Given the description of an element on the screen output the (x, y) to click on. 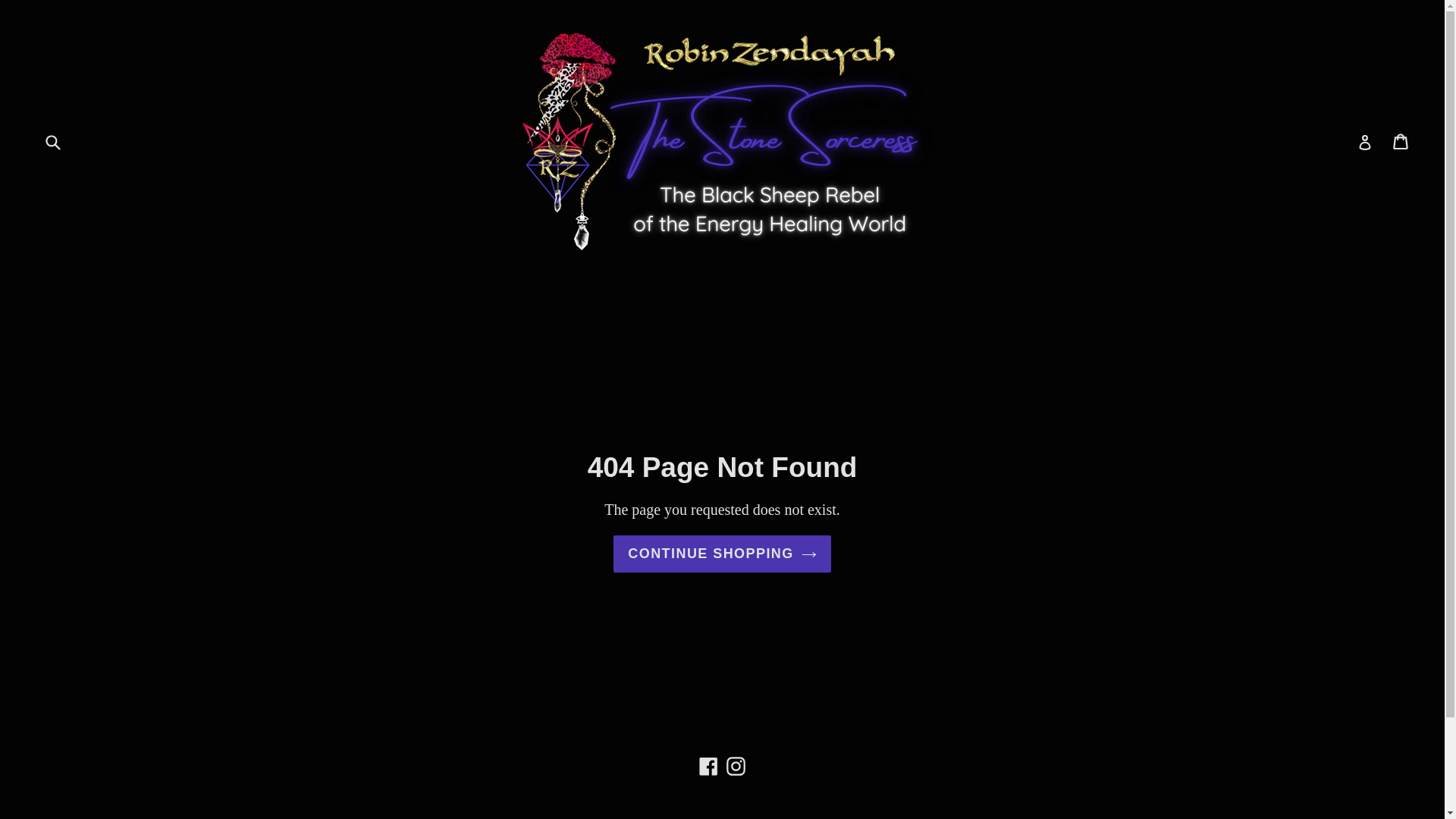
Facebook (708, 763)
Instagram (735, 763)
Robin Zendayah on Instagram (735, 763)
CONTINUE SHOPPING (721, 553)
Robin Zendayah on Facebook (708, 763)
